Given the description of an element on the screen output the (x, y) to click on. 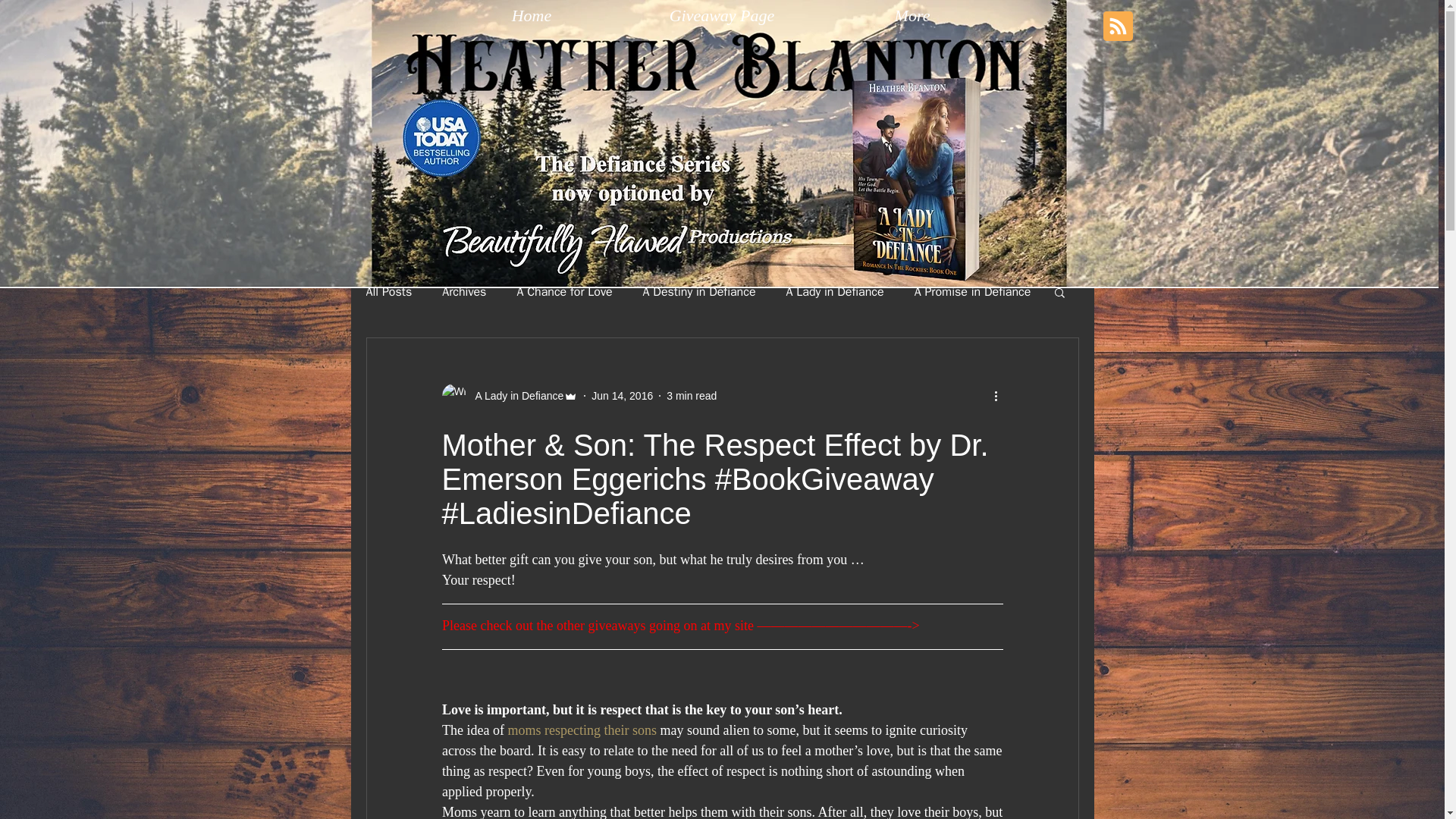
Giveaway Page (721, 15)
Home (531, 15)
All Posts (388, 291)
Archives (464, 291)
A Destiny in Defiance (699, 291)
A Chance for Love (563, 291)
Jun 14, 2016 (621, 395)
A Promise in Defiance (972, 291)
3 min read (691, 395)
A Lady in Defiance (514, 396)
A Lady in Defiance (834, 291)
